Given the description of an element on the screen output the (x, y) to click on. 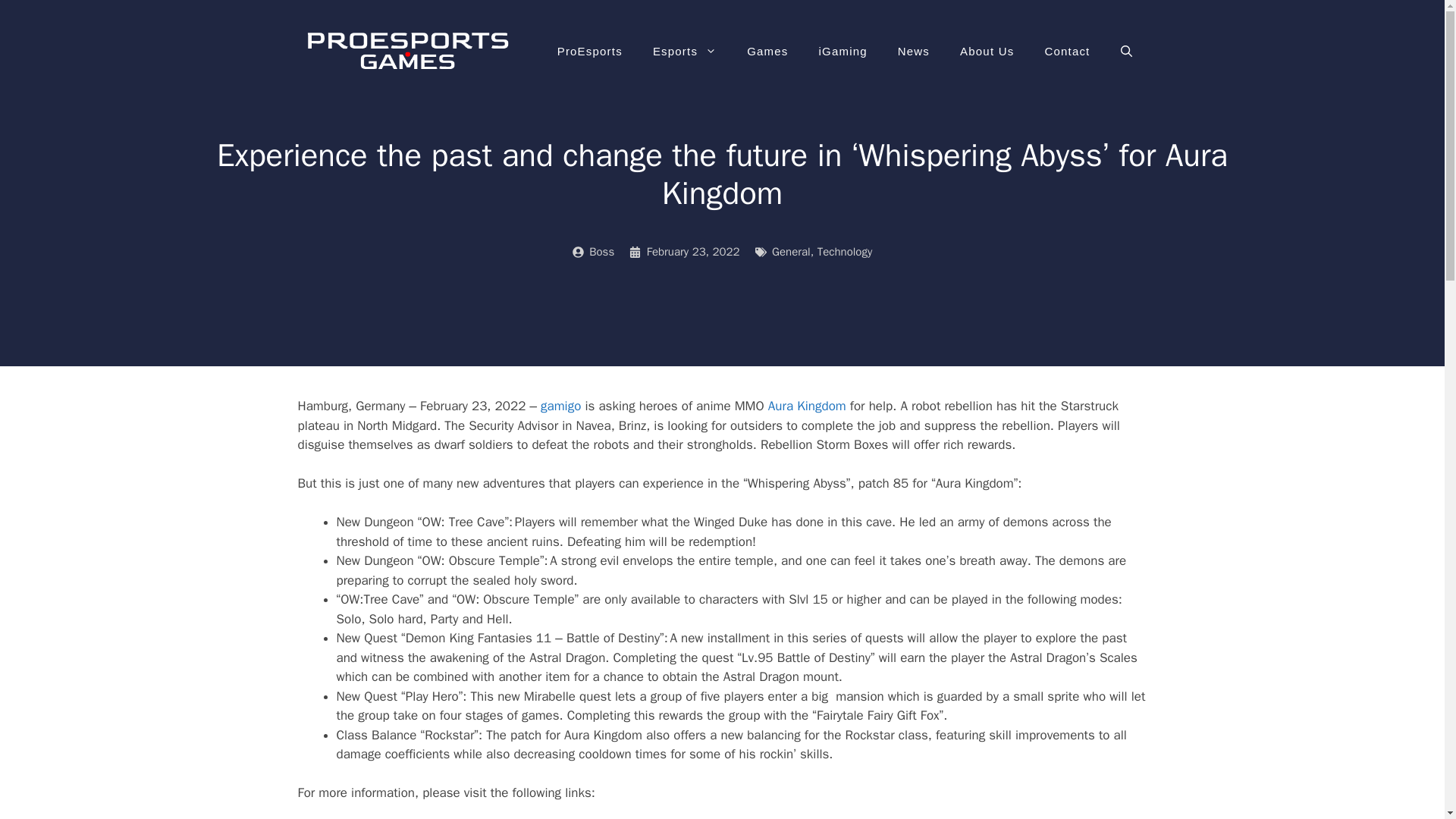
ProEsports (589, 51)
News (913, 51)
Games (767, 51)
General (790, 251)
Technology (844, 251)
iGaming (842, 51)
Contact (1067, 51)
About Us (986, 51)
gamigo (560, 406)
Esports (684, 51)
Aura Kingdom (806, 406)
